Given the description of an element on the screen output the (x, y) to click on. 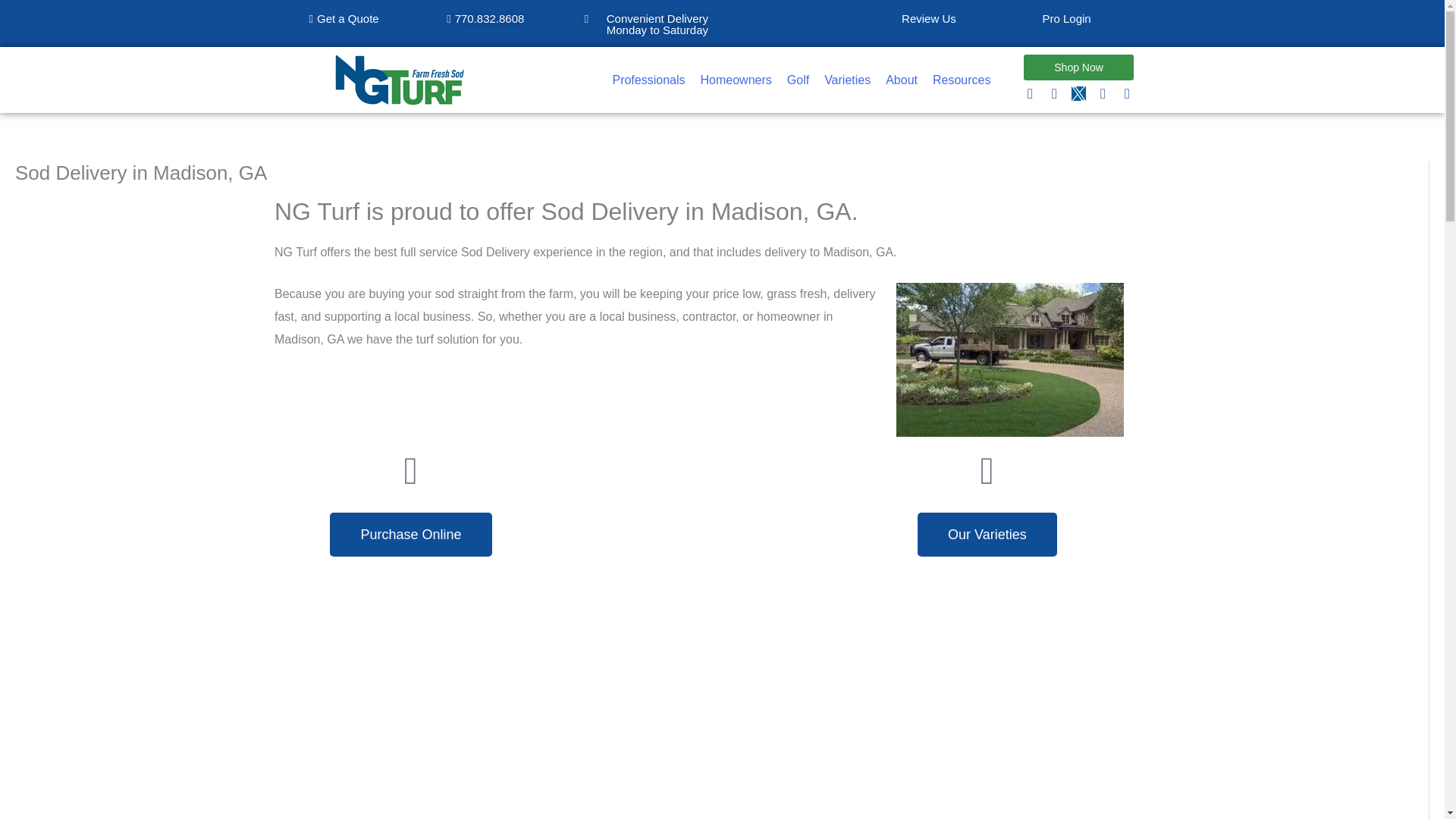
Golf (797, 80)
770.832.8608 (485, 19)
Review Us (928, 18)
Convenient Delivery Monday to Saturday (653, 24)
Homeowners (735, 80)
Pro Login (1066, 18)
Resources (960, 80)
Varieties (846, 80)
Professionals (648, 80)
About (900, 80)
